Given the description of an element on the screen output the (x, y) to click on. 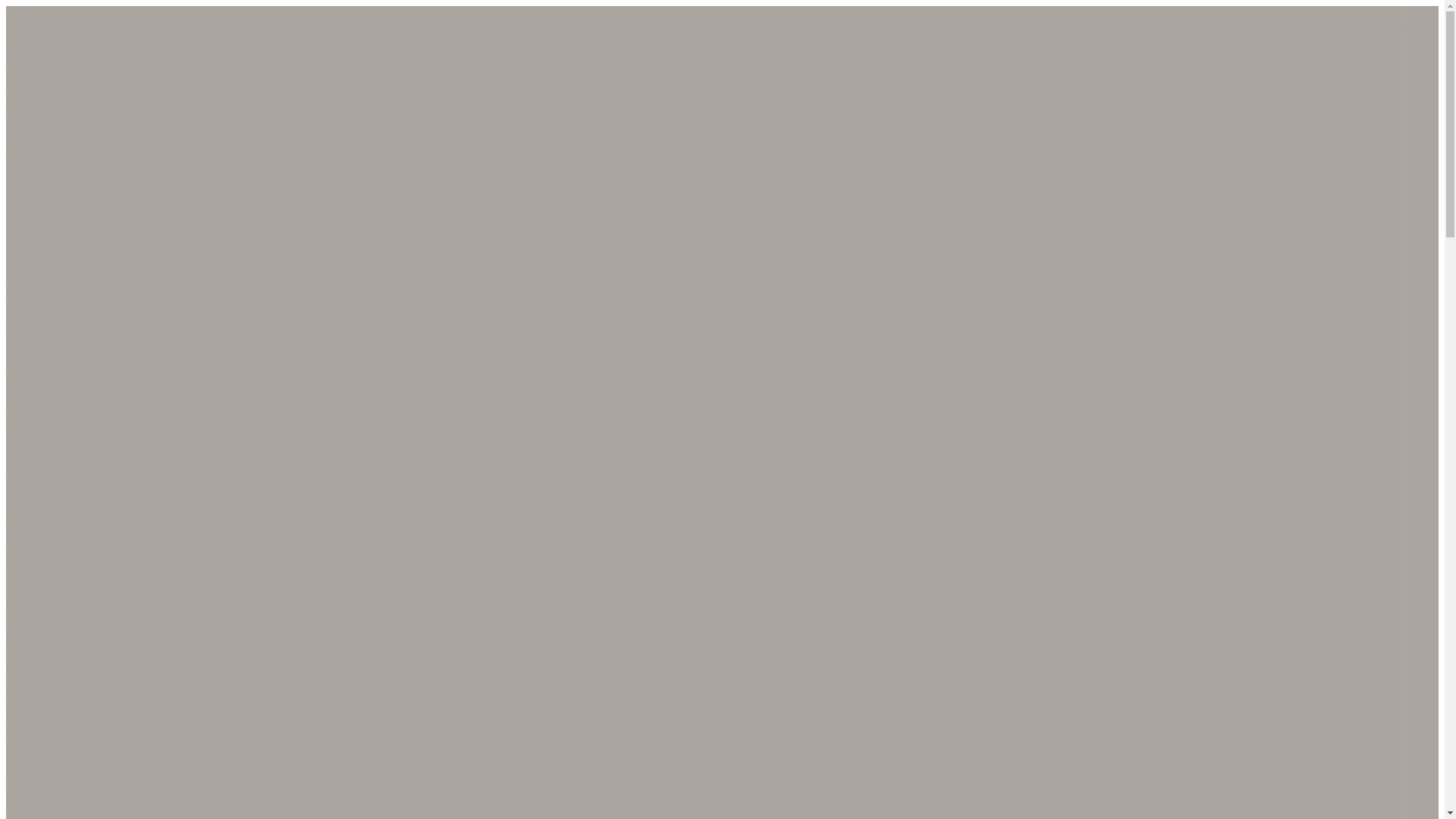
Fun Things To Do In Abu Dhabi (84, 492)
Clymb Abu Dhabi Tickets (69, 219)
Al Ain City Tour (46, 355)
Indoor Activities in Abu Dhabi (80, 451)
Ferrari World Tickets (57, 123)
Al Ain Zoo Tickets (52, 287)
Romantic Places in Abu Dhabi (80, 437)
Things to do in Abu Dhabi (70, 410)
Louvre Abu Dhabi Tickets (70, 273)
Jet Ski Abu Dhabi (49, 328)
Kids Activities in Abu Dhabi (76, 464)
Emirates Palace Tickets (63, 259)
Yas Marina Circuit Tour (64, 369)
Snow Park Abu Dhabi Tickets (78, 164)
Observation Deck at 300 Ticket (82, 246)
